Given the description of an element on the screen output the (x, y) to click on. 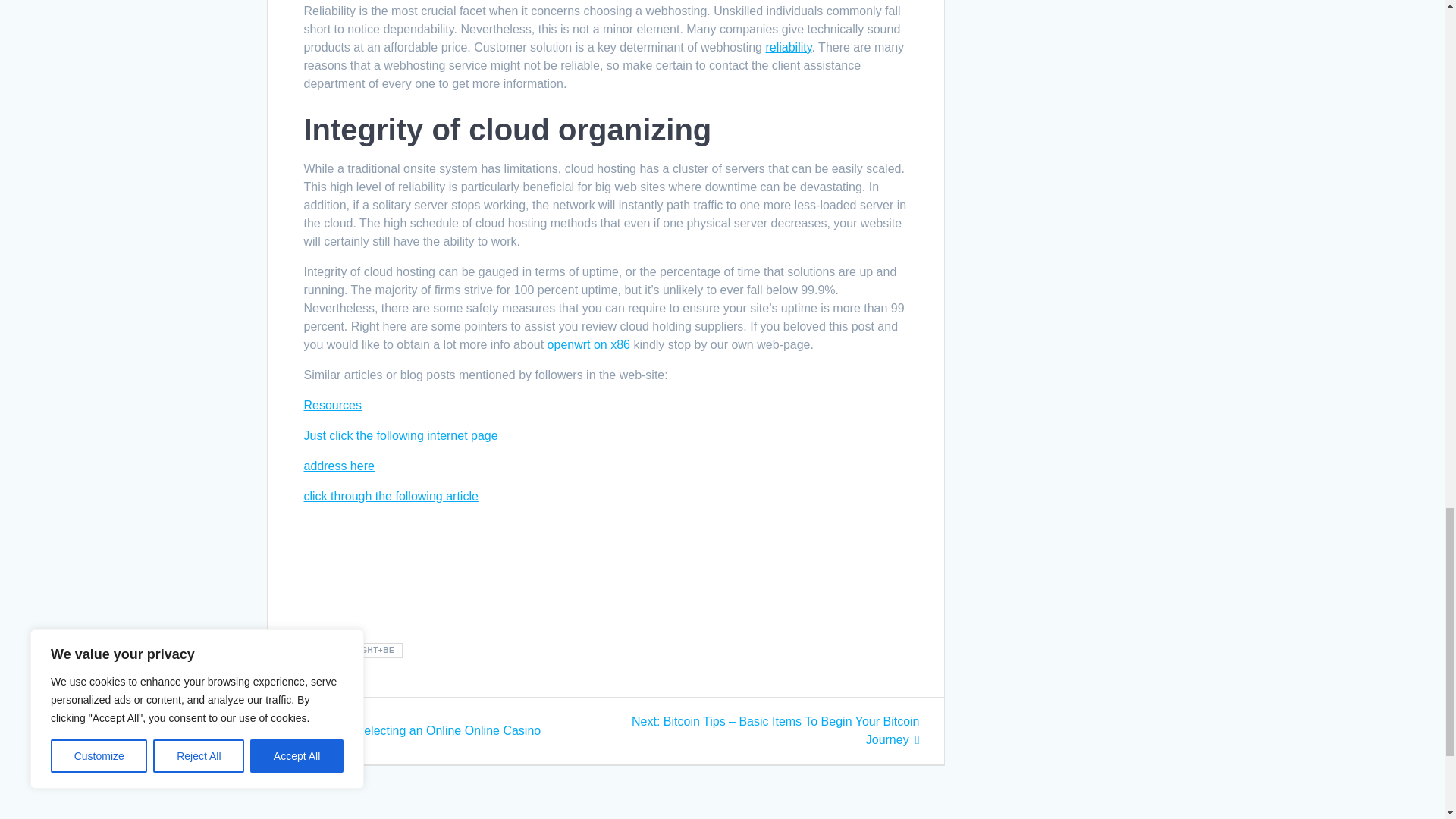
address here (338, 465)
click through the following article (389, 495)
Resources (331, 404)
Just click the following internet page (399, 435)
reliability (787, 47)
openwrt on x86 (415, 730)
